Given the description of an element on the screen output the (x, y) to click on. 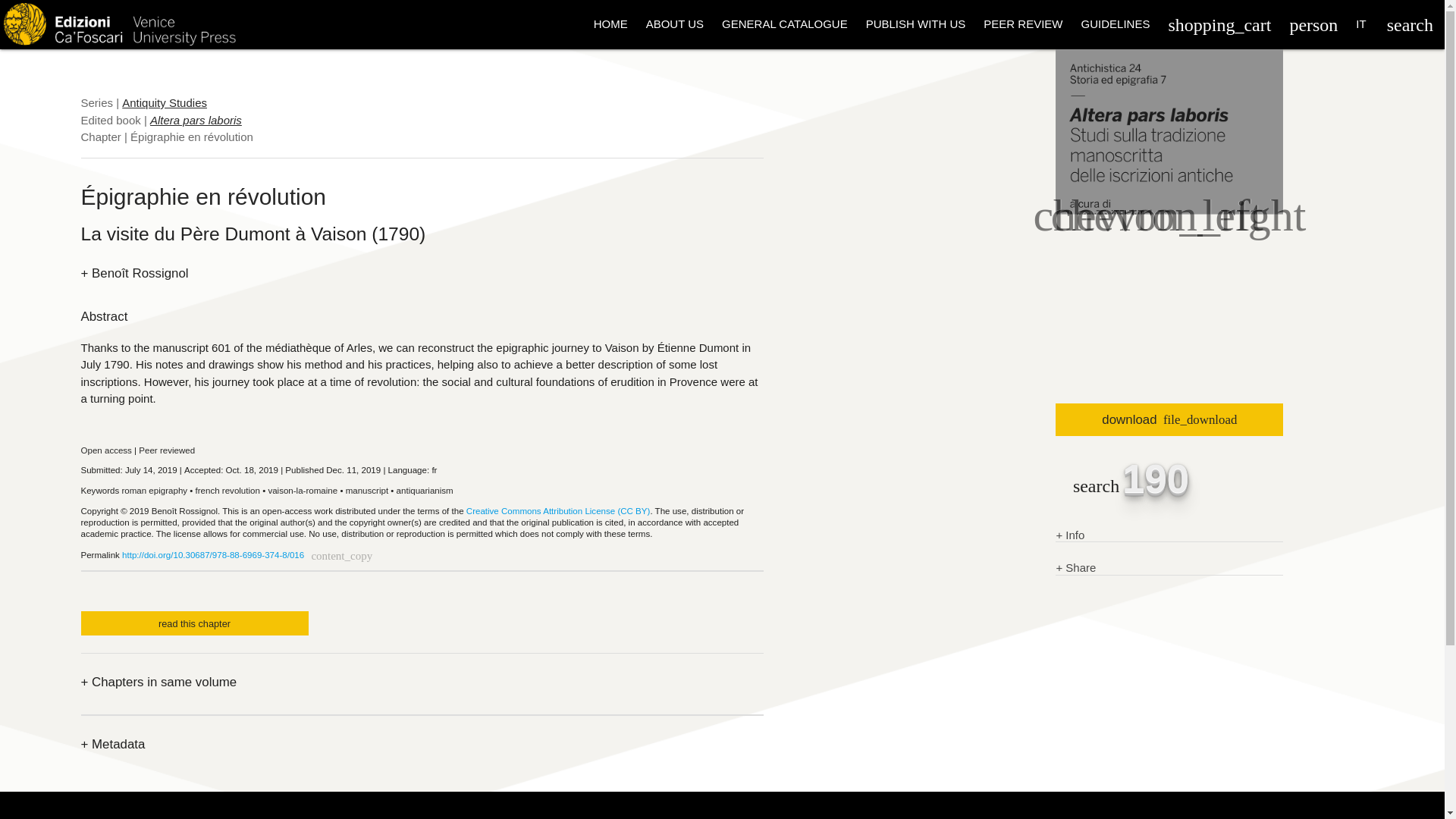
GUIDELINES (1114, 24)
Antiquity Studies (164, 102)
french revolution (227, 490)
read this chapter (193, 622)
roman epigraphy (153, 490)
Peer reviewed (166, 450)
antiquarianism (424, 490)
manuscript (367, 490)
search (1409, 24)
PUBLISH WITH US (916, 24)
